Given the description of an element on the screen output the (x, y) to click on. 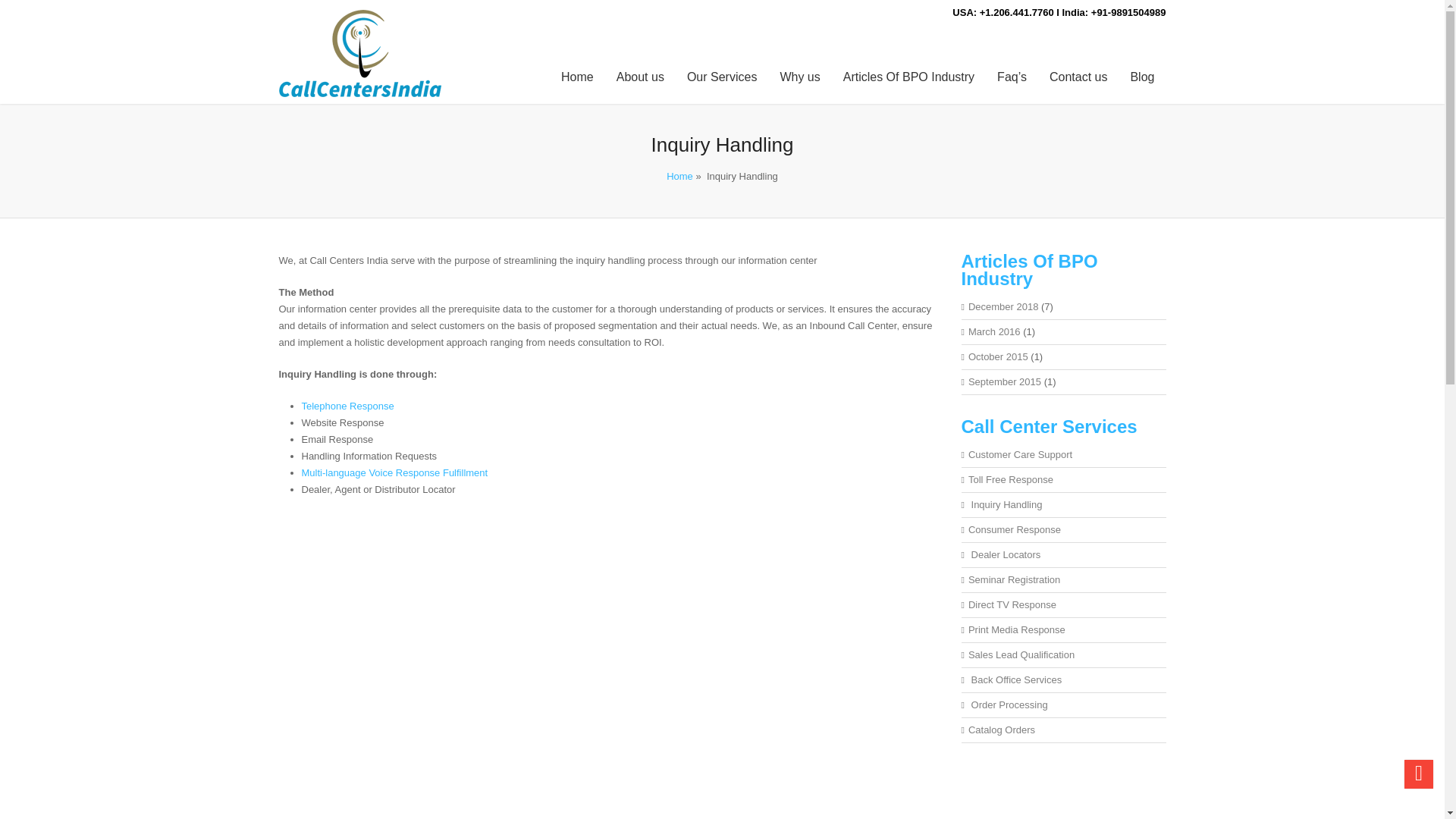
Customer Care Support (1019, 454)
Order Processing (1008, 704)
Catalog Orders (1001, 729)
Multi-language Voice Response Fulfillment (394, 472)
Contact us (1078, 77)
March 2016 (994, 331)
Consumer Response (1014, 529)
Articles Of BPO Industry (908, 77)
September 2015 (1004, 381)
Back To Top (1418, 774)
Inquiry Handling (1005, 504)
Why us (799, 77)
Direct TV Response (1012, 604)
Print Media Response (1016, 629)
Dealer Locators (1004, 554)
